Given the description of an element on the screen output the (x, y) to click on. 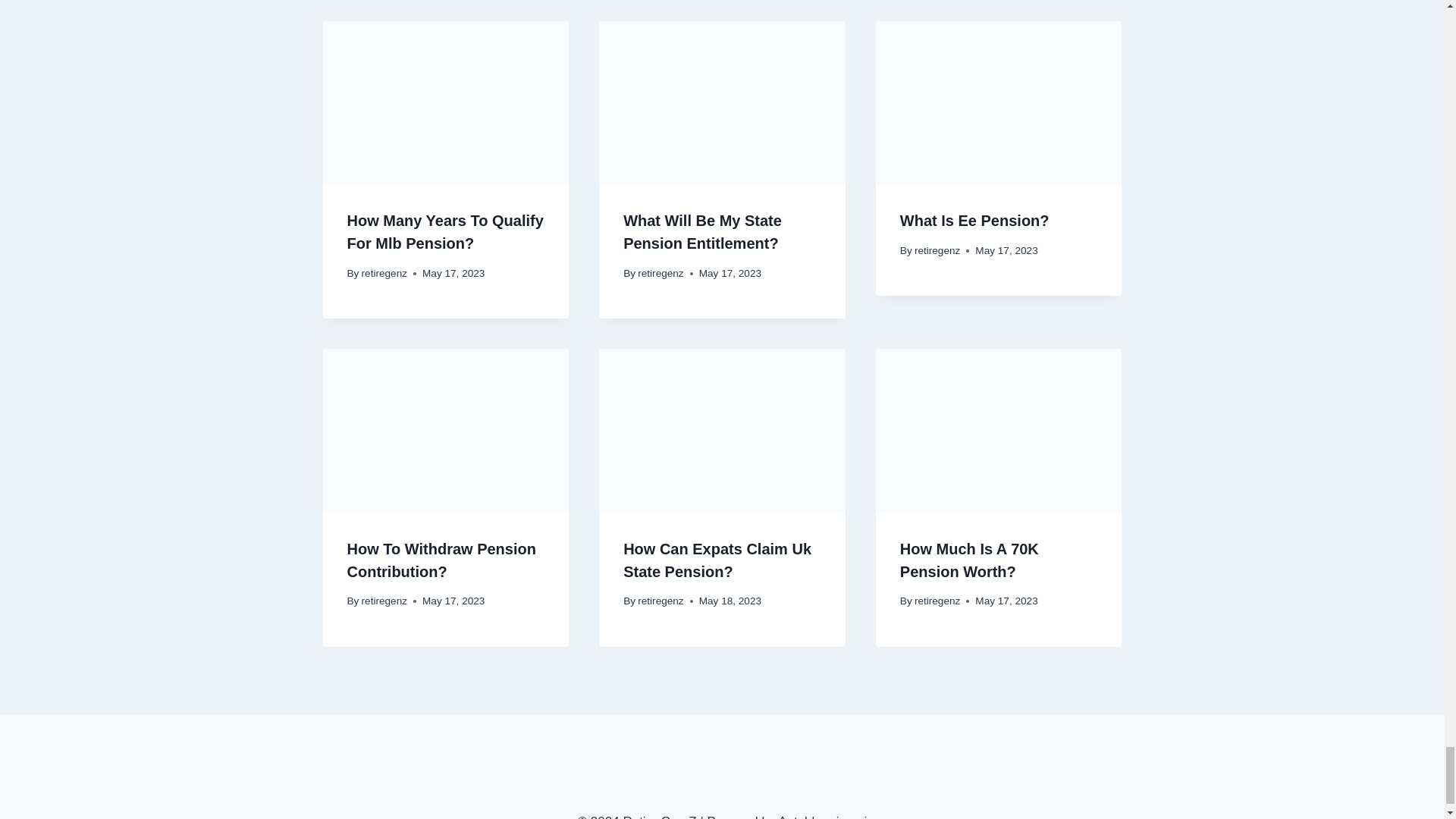
retiregenz (384, 273)
How Many Years To Qualify For Mlb Pension? (445, 231)
retiregenz (659, 273)
retiregenz (936, 250)
What Will Be My State Pension Entitlement? (702, 231)
What Is Ee Pension? (974, 220)
